Given the description of an element on the screen output the (x, y) to click on. 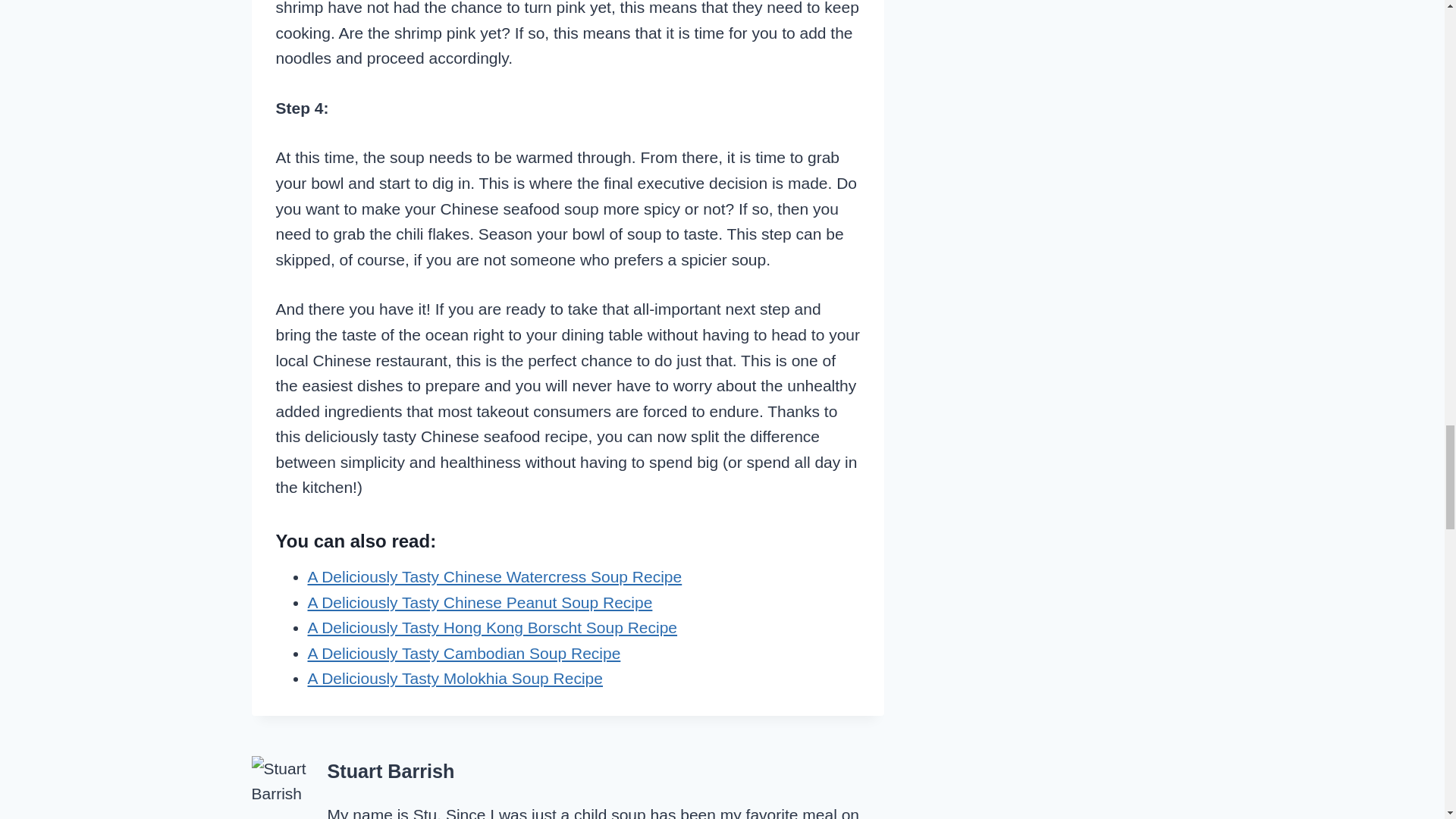
A Deliciously Tasty Chinese Watercress Soup Recipe (494, 576)
A Deliciously Tasty Cambodian Soup Recipe (464, 652)
A Deliciously Tasty Hong Kong Borscht Soup Recipe (492, 627)
Posts by Stuart Barrish (390, 771)
Stuart Barrish (390, 771)
A Deliciously Tasty Chinese Peanut Soup Recipe (479, 601)
A Deliciously Tasty Molokhia Soup Recipe (454, 678)
